Given the description of an element on the screen output the (x, y) to click on. 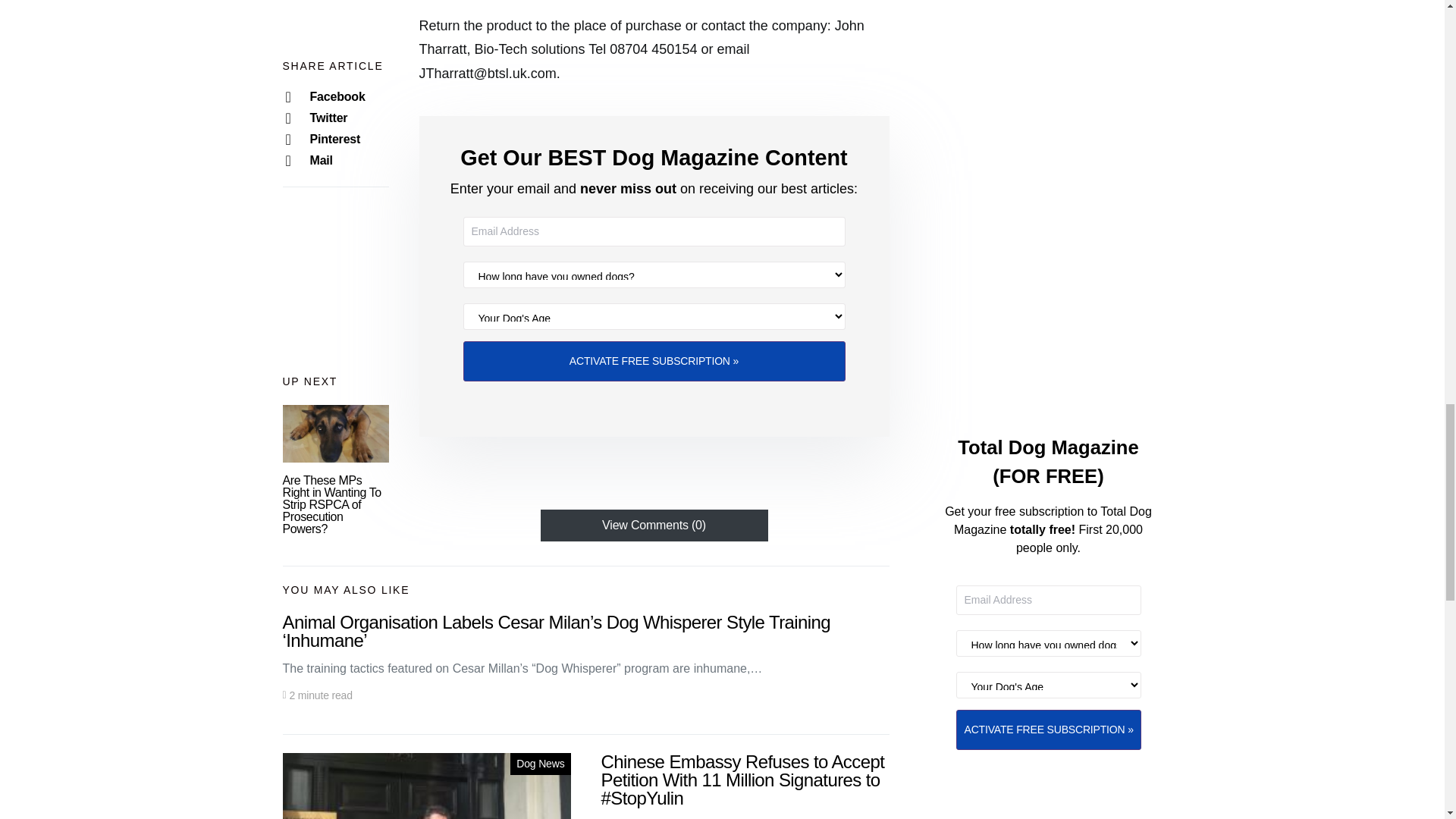
Dog News (540, 763)
